Given the description of an element on the screen output the (x, y) to click on. 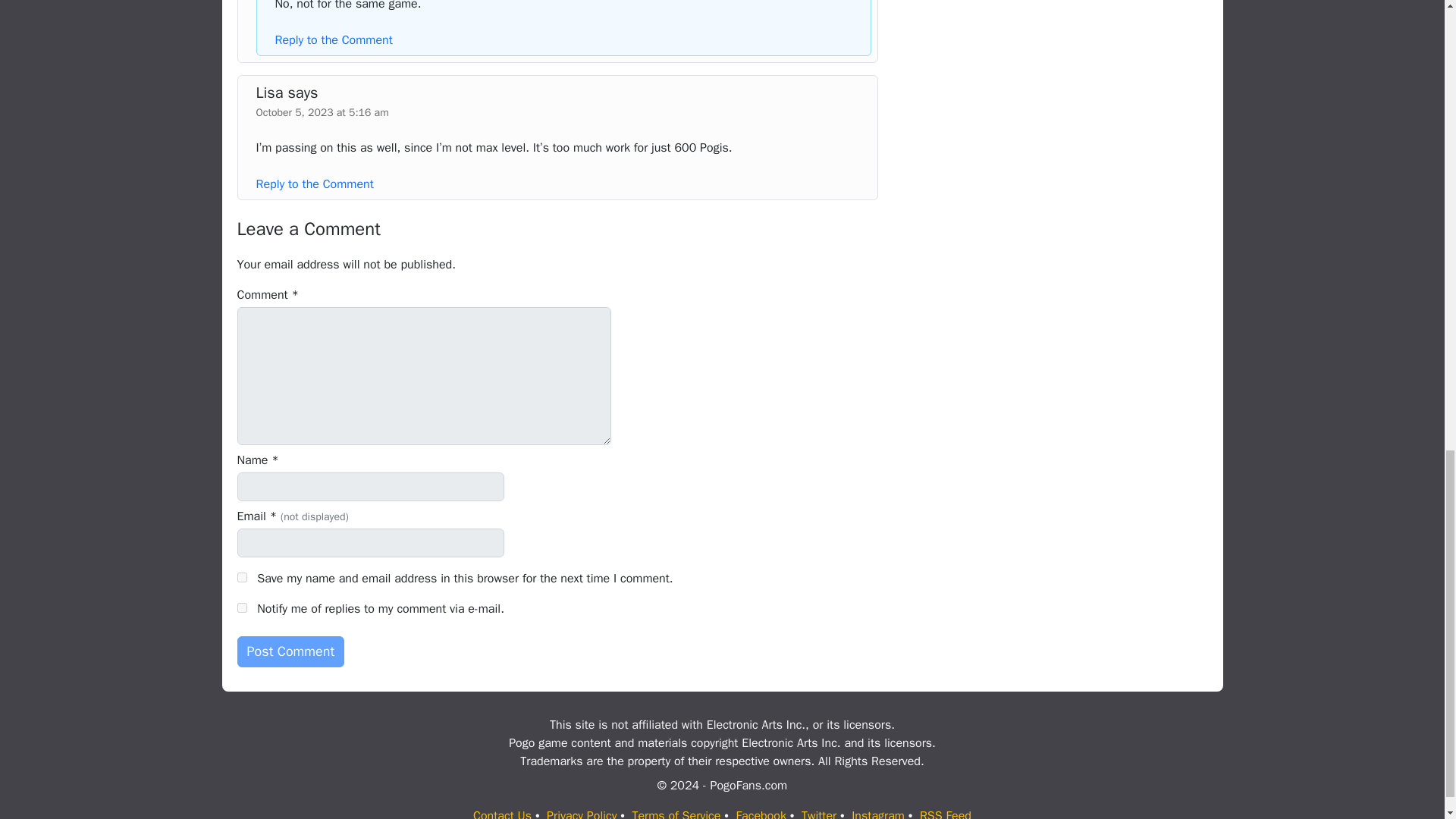
Reply to the Comment (333, 39)
Email (369, 542)
yes (240, 577)
replies (240, 607)
Name (369, 486)
Reply to the Comment (315, 183)
Comment (422, 376)
Post Comment (289, 651)
October 5, 2023 at 5:16 am (322, 112)
Post Comment (289, 651)
